Given the description of an element on the screen output the (x, y) to click on. 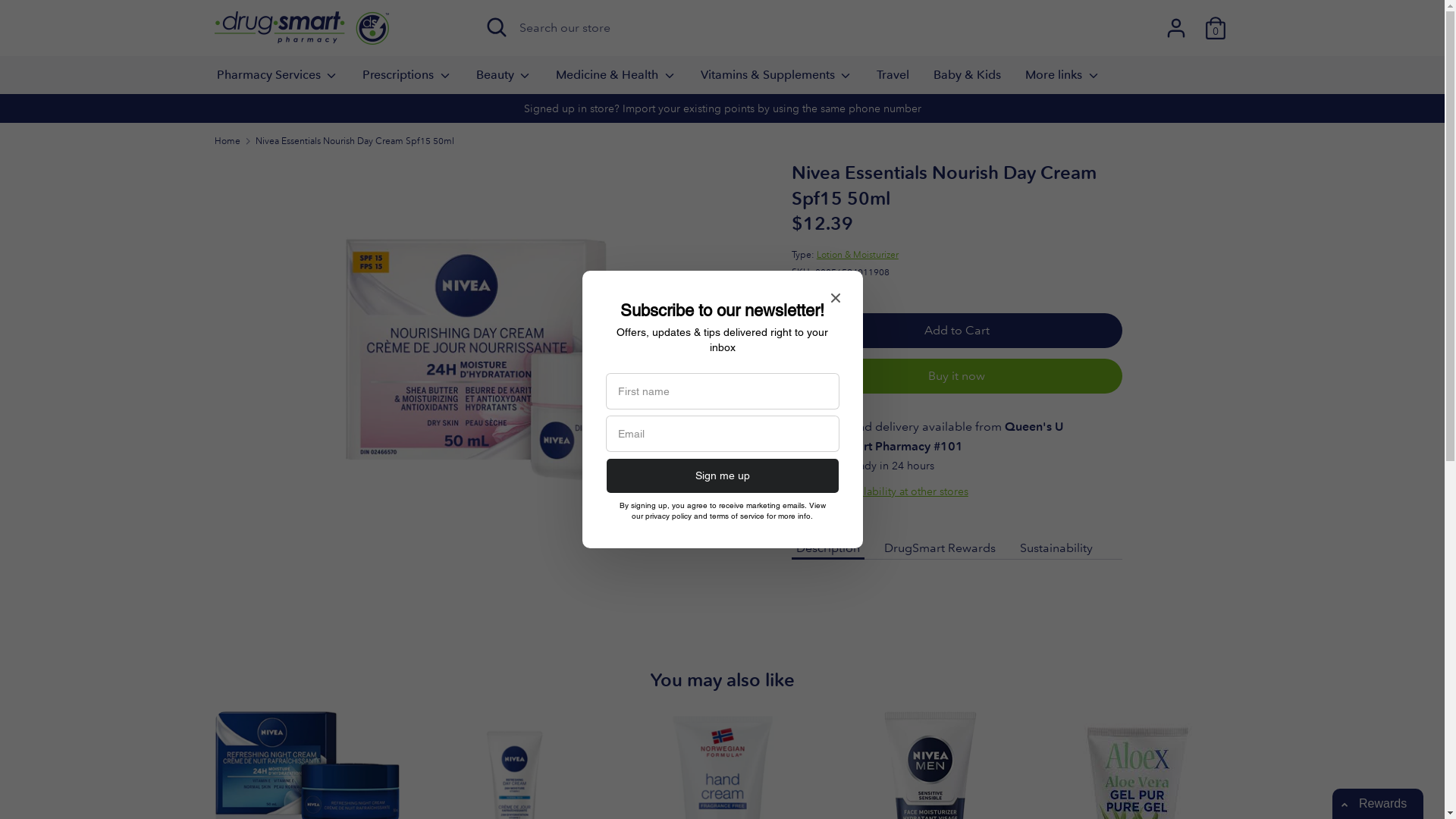
Home Element type: text (226, 140)
DrugSmart Rewards Element type: text (939, 547)
Medicine & Health Element type: text (615, 79)
Add to Cart Element type: text (956, 330)
Buy it now Element type: text (956, 375)
0 Element type: text (1214, 22)
Pharmacy Services Element type: text (276, 79)
Prescriptions Element type: text (407, 79)
Description Element type: text (827, 547)
Vitamins & Supplements Element type: text (776, 79)
Beauty Element type: text (503, 79)
Lotion & Moisturizer Element type: text (857, 254)
Travel Element type: text (892, 79)
More links Element type: text (1062, 79)
Baby & Kids Element type: text (967, 79)
Nivea Essentials Nourish Day Cream Spf15 50ml Element type: text (354, 140)
Sustainability Element type: text (1056, 547)
Check availability at other stores Element type: text (889, 490)
